Given the description of an element on the screen output the (x, y) to click on. 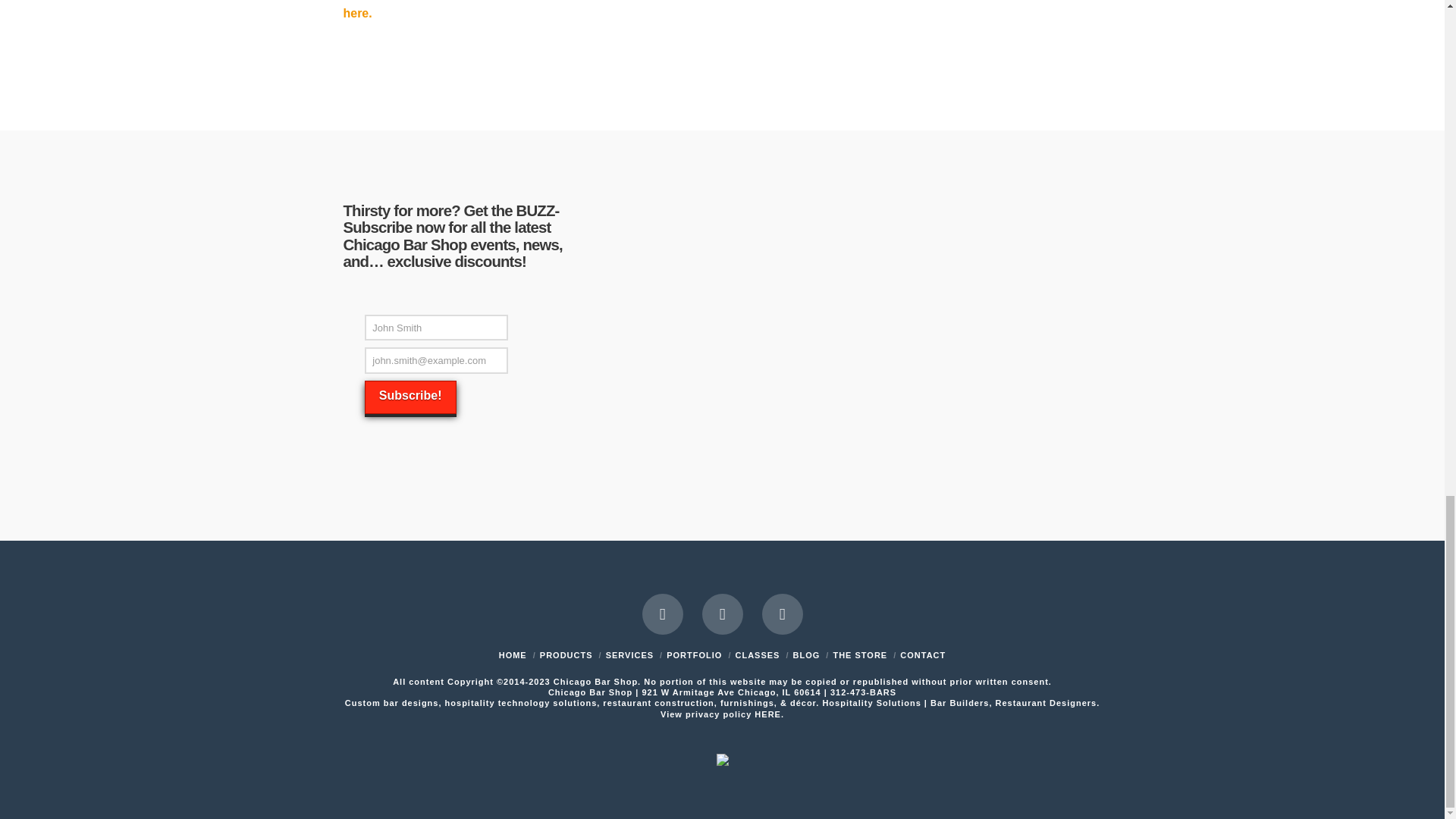
Pinterest (781, 613)
Subscribe! (411, 397)
Facebook (662, 613)
Privacy Policy (769, 714)
